Given the description of an element on the screen output the (x, y) to click on. 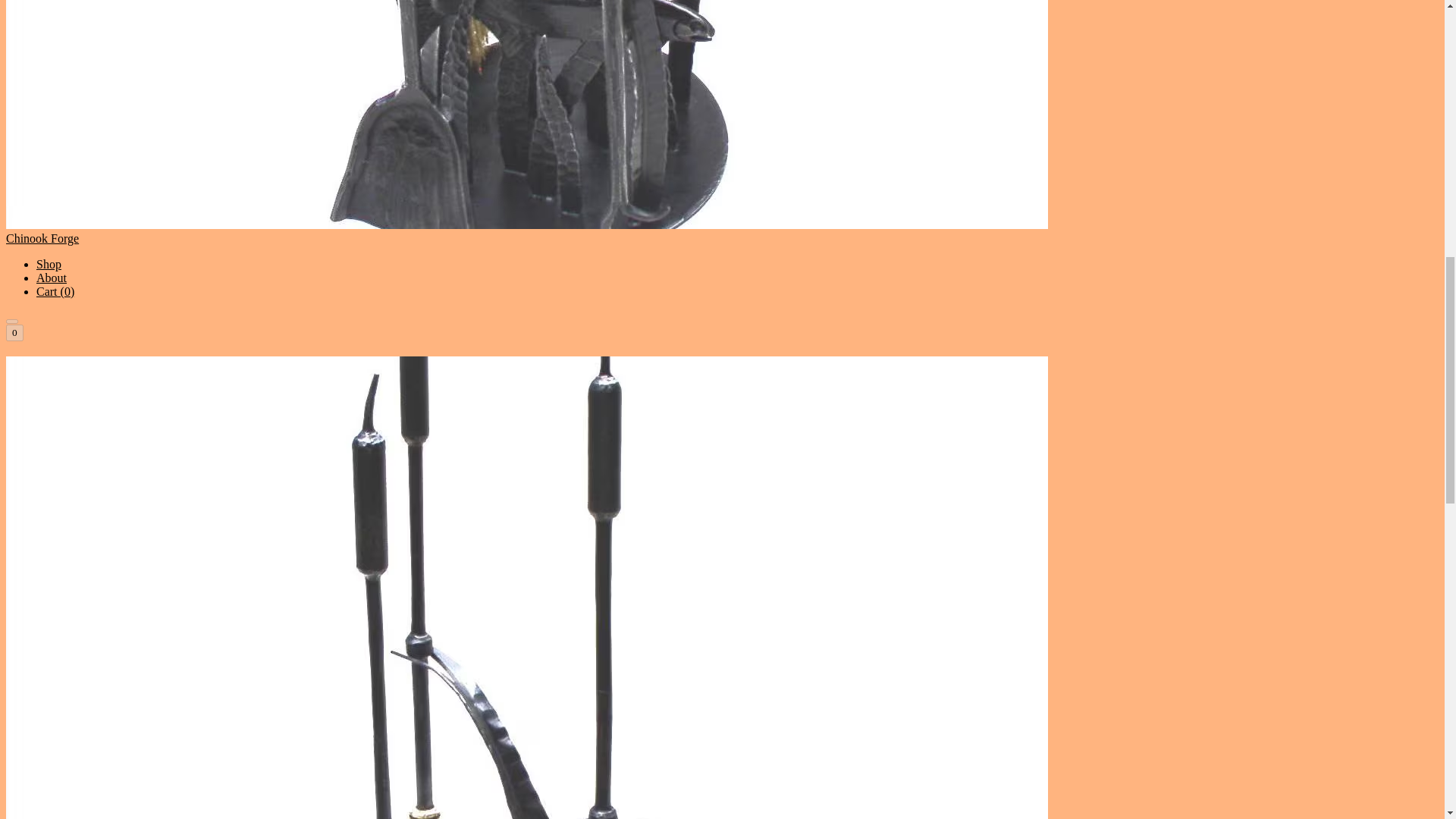
About (51, 277)
0 (14, 332)
Shop (48, 264)
